Given the description of an element on the screen output the (x, y) to click on. 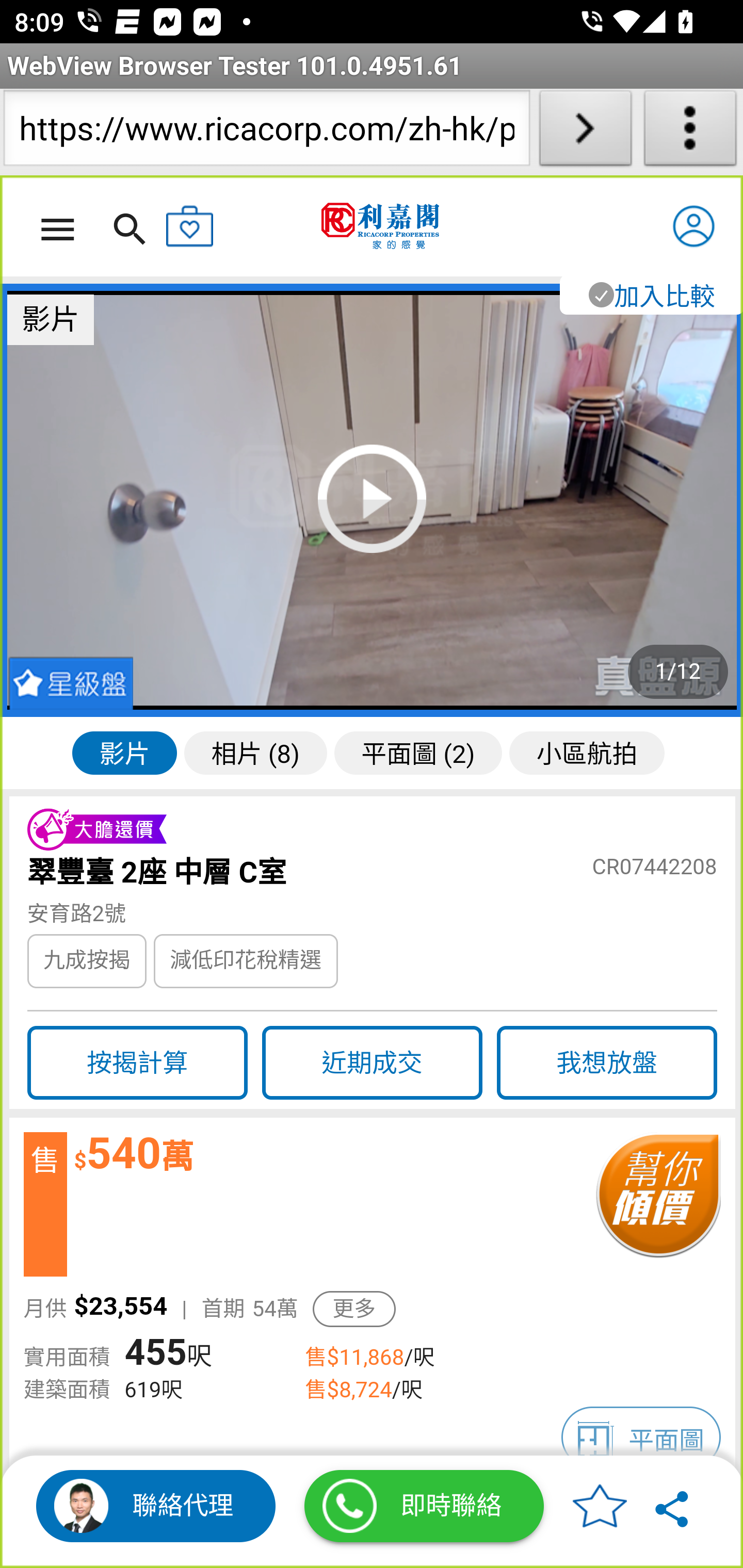
Load URL (585, 132)
About WebView (690, 132)
unchecked 加入比較 (650, 294)
image watermark (372, 499)
影片 (123, 752)
相片 (8) (255, 752)
平面圖 (2) (417, 752)
小區航拍 (587, 752)
按揭計算 (136, 1062)
近期成交 (371, 1062)
我想放盤 (606, 1062)
negotiation (657, 1204)
更多 (353, 1309)
平面圖 (640, 1437)
Kam Kam 聯絡代理 (156, 1505)
whatsapp 即時聯絡 (424, 1505)
Share button (672, 1505)
